Given the description of an element on the screen output the (x, y) to click on. 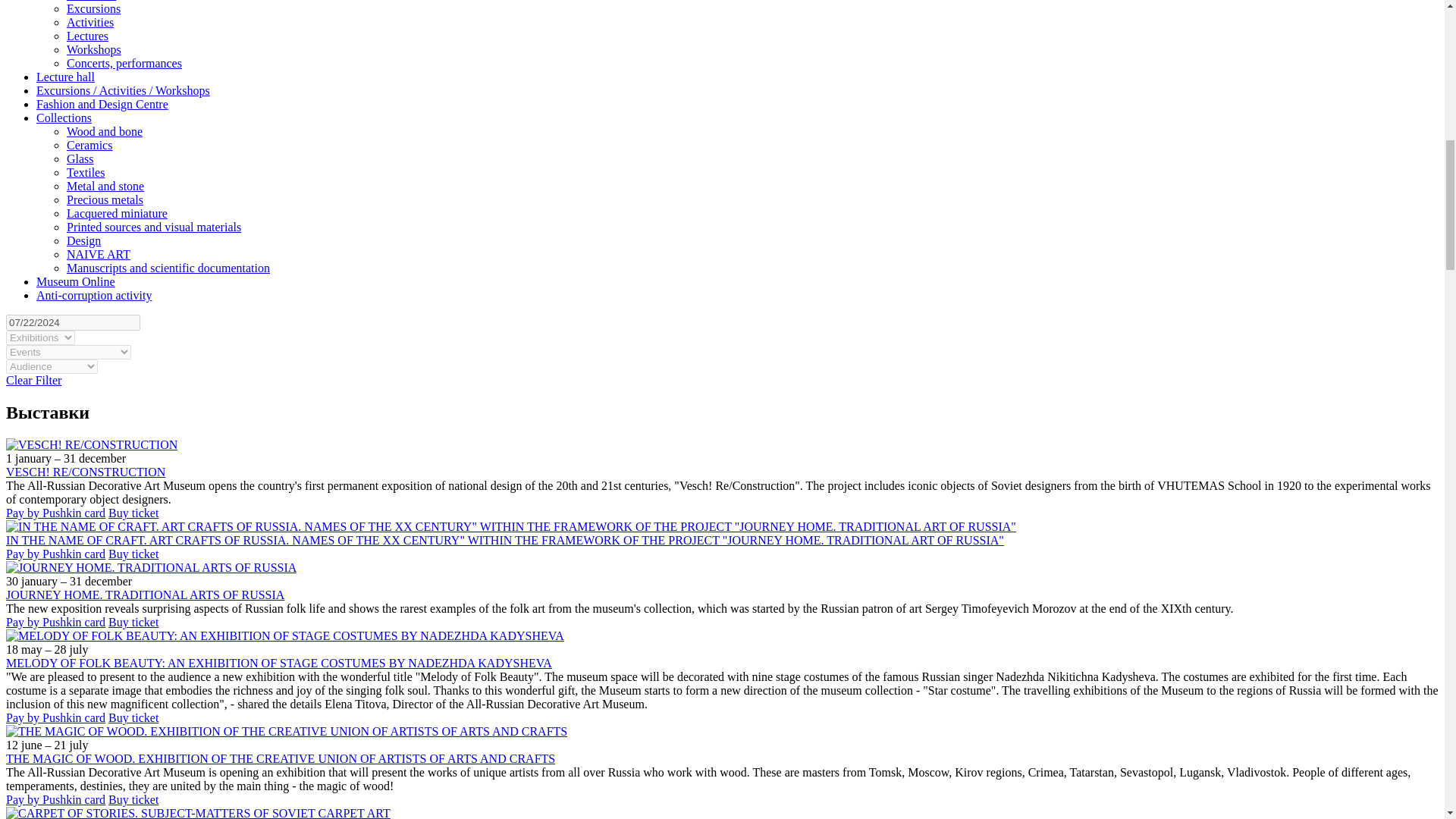
Excursions (93, 8)
JOURNEY HOME. TRADITIONAL ARTS OF RUSSIA (151, 567)
Lectures (86, 35)
Lecture hall (65, 76)
JOURNEY HOME. TRADITIONAL ARTS OF RUSSIA (144, 594)
Workshops (93, 49)
Concerts, performances (124, 62)
Fashion and Design Centre (102, 103)
All events (91, 0)
Activities (89, 21)
CARPET OF STORIES. SUBJECT-MATTERS OF SOVIET CARPET ART (197, 812)
